Given the description of an element on the screen output the (x, y) to click on. 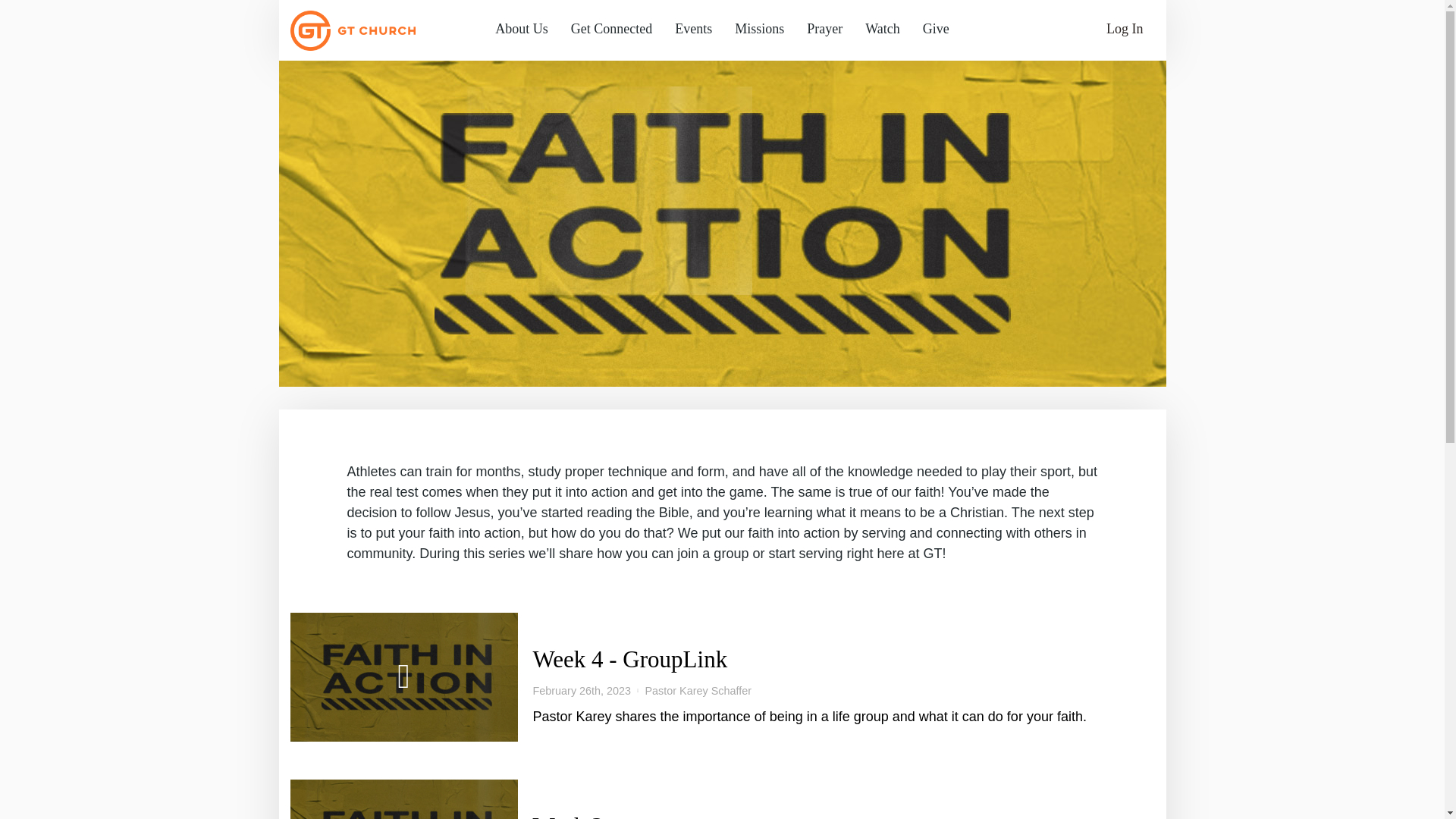
Watch (882, 29)
About Us (521, 29)
Log In (1093, 29)
Events (693, 29)
Give (935, 29)
Missions (758, 29)
Prayer (823, 29)
Get Connected (611, 29)
